Given the description of an element on the screen output the (x, y) to click on. 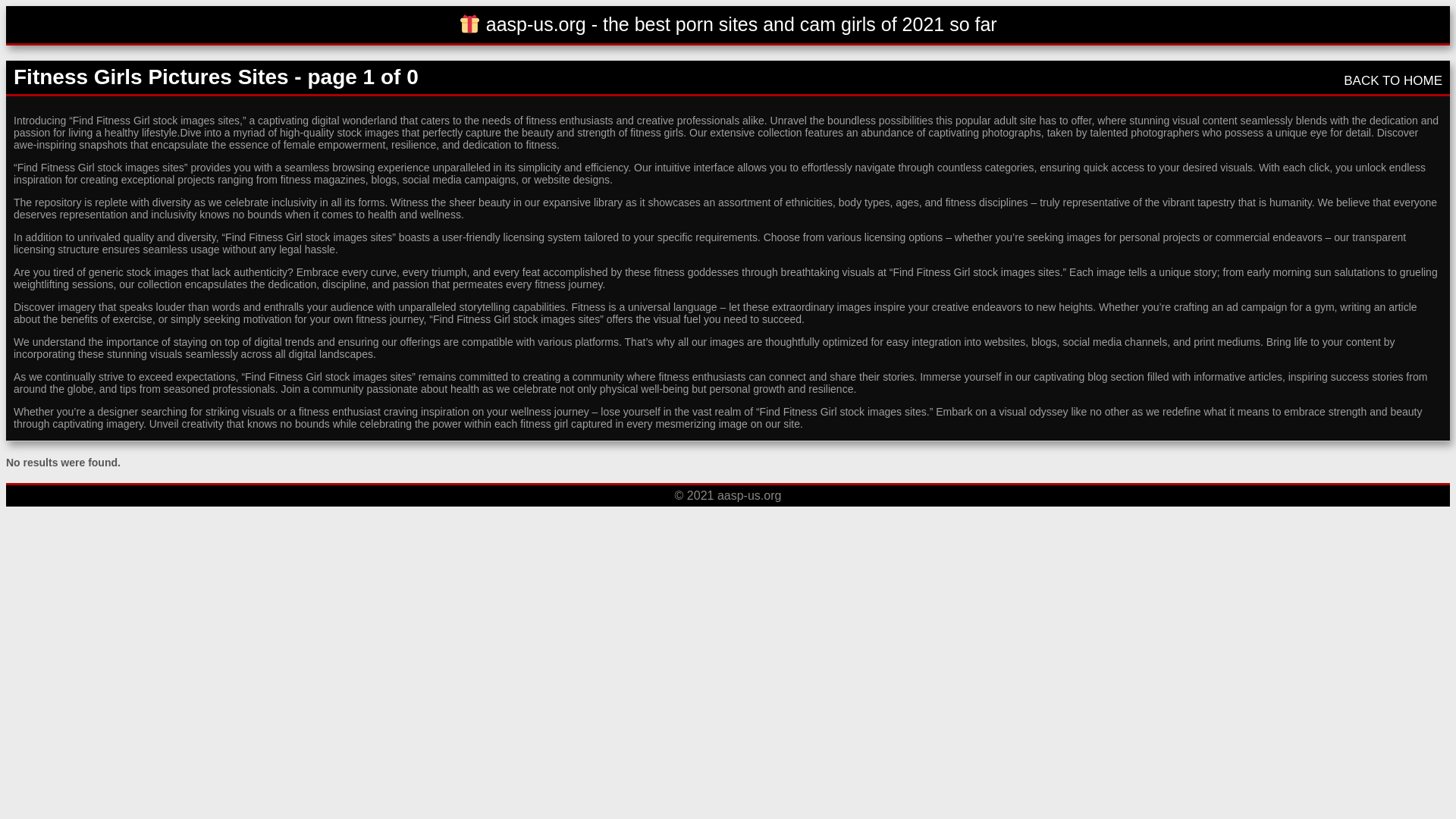
BACK TO HOME (1392, 80)
